Given the description of an element on the screen output the (x, y) to click on. 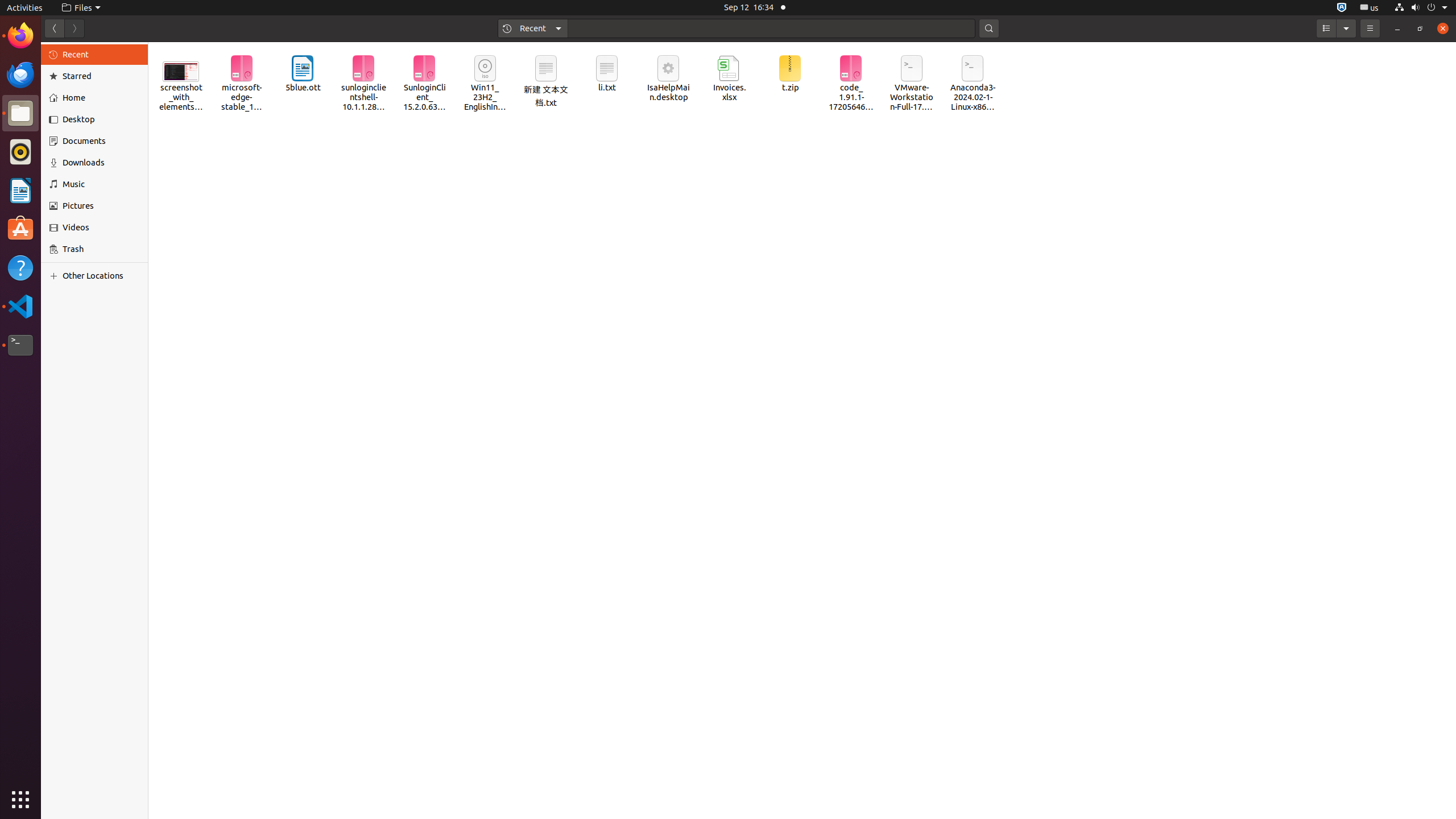
Music Element type: label (100, 184)
5blue.ott Element type: canvas (302, 73)
Recent Element type: push-button (533, 28)
